Given the description of an element on the screen output the (x, y) to click on. 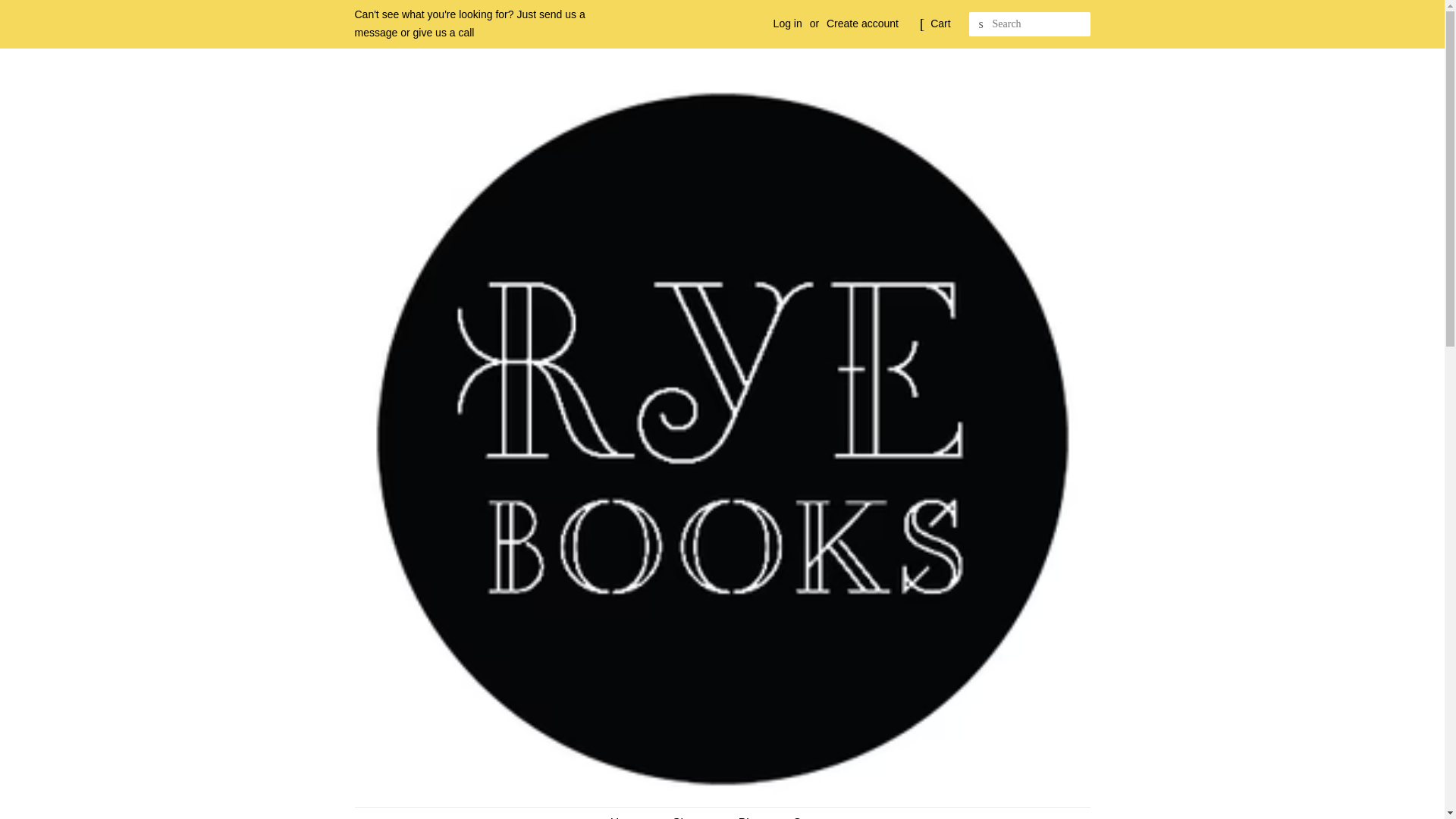
Log in (787, 23)
Cart (940, 24)
Create account (862, 23)
Search (980, 24)
